Given the description of an element on the screen output the (x, y) to click on. 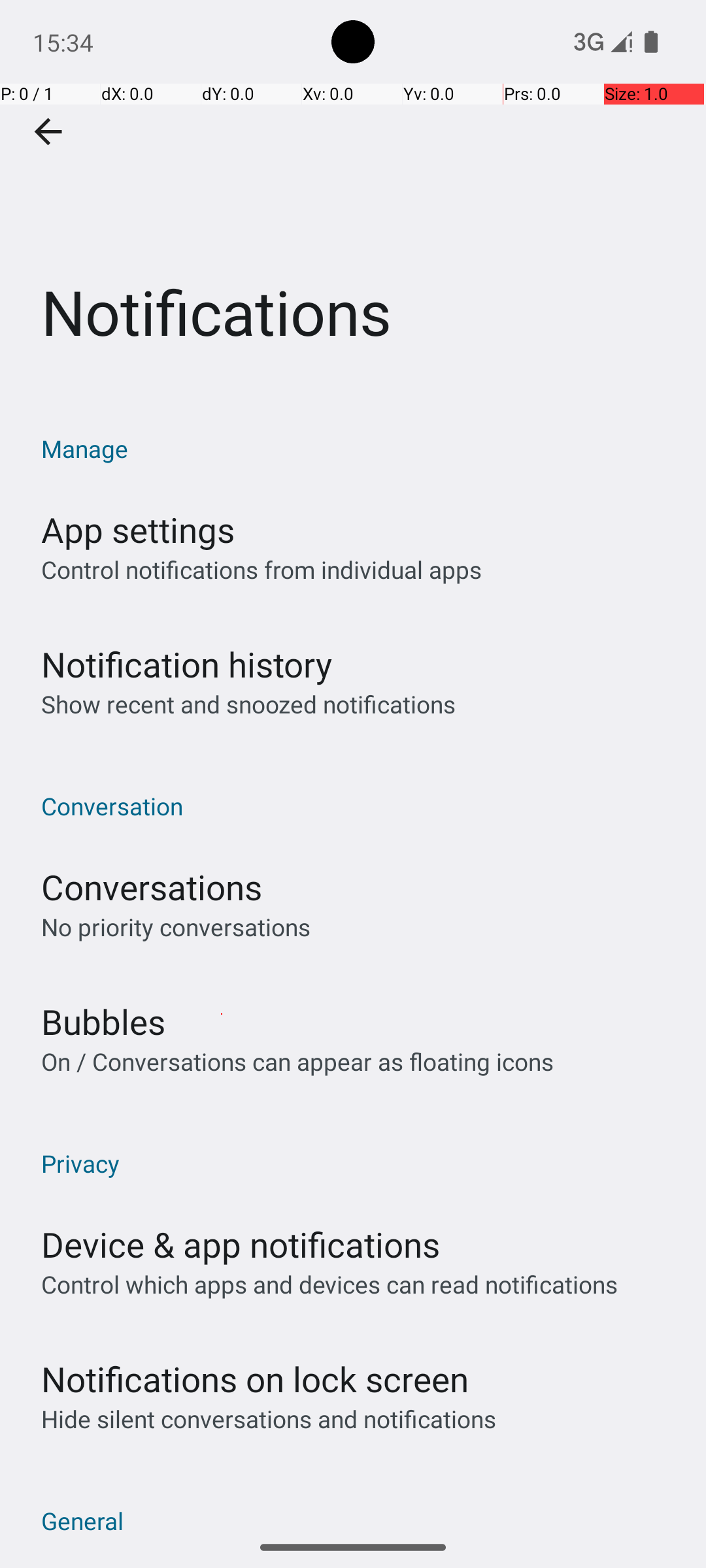
On / Conversations can appear as floating icons Element type: android.widget.TextView (297, 1061)
